Given the description of an element on the screen output the (x, y) to click on. 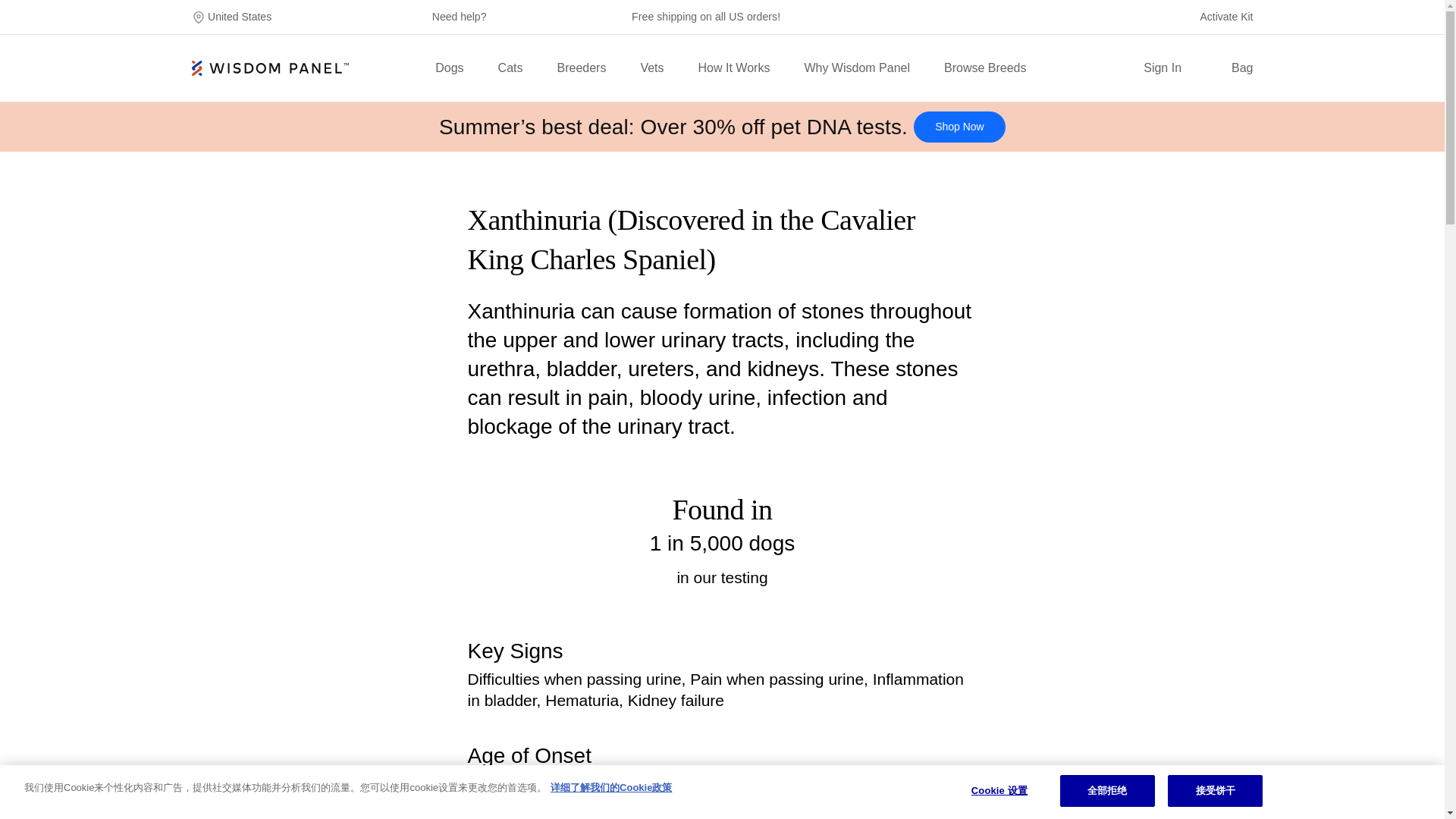
Sign In (1161, 67)
Need help? (459, 16)
Shop Now (960, 126)
Bag (1231, 67)
Activate Kit (1225, 16)
